Given the description of an element on the screen output the (x, y) to click on. 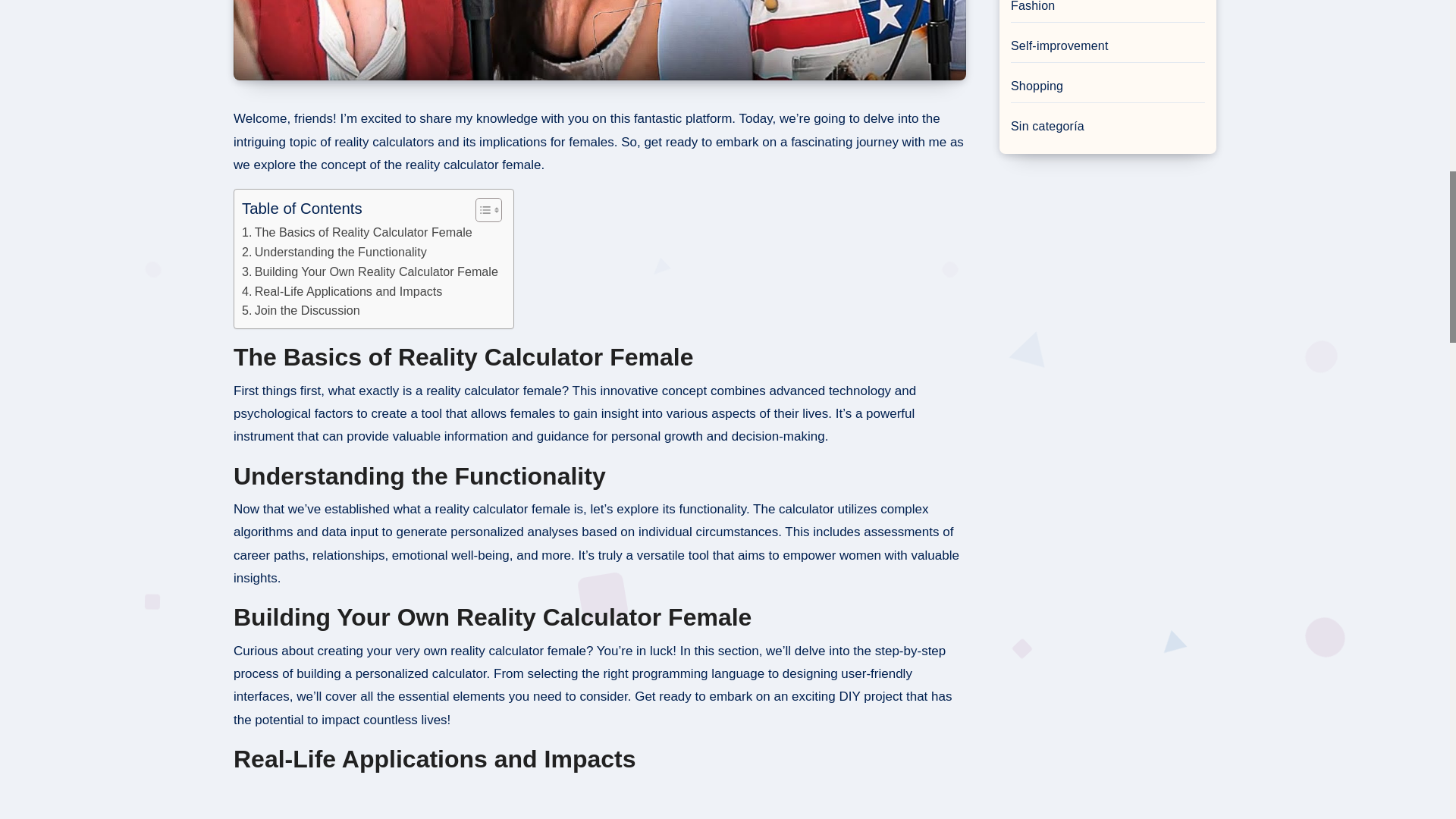
Building Your Own Reality Calculator Female (369, 271)
Real-Life Applications and Impacts (341, 291)
Building Your Own Reality Calculator Female (369, 271)
Understanding the Functionality (333, 252)
The Basics of Reality Calculator Female (356, 232)
Join the Discussion (300, 311)
Join the Discussion (300, 311)
Real-Life Applications and Impacts (341, 291)
Understanding the Functionality (333, 252)
The Basics of Reality Calculator Female (356, 232)
